Given the description of an element on the screen output the (x, y) to click on. 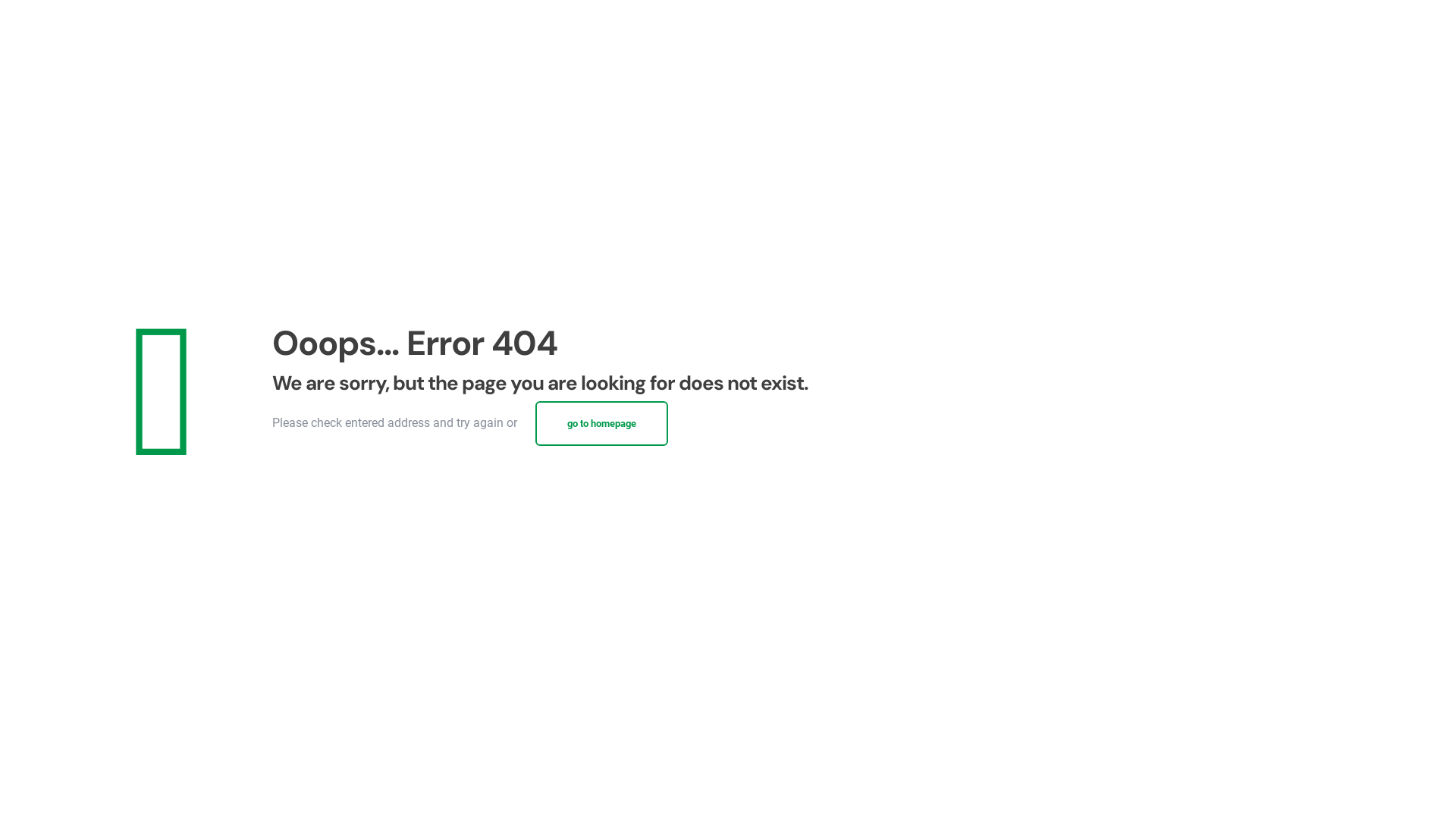
go to homepage Element type: text (601, 423)
